Given the description of an element on the screen output the (x, y) to click on. 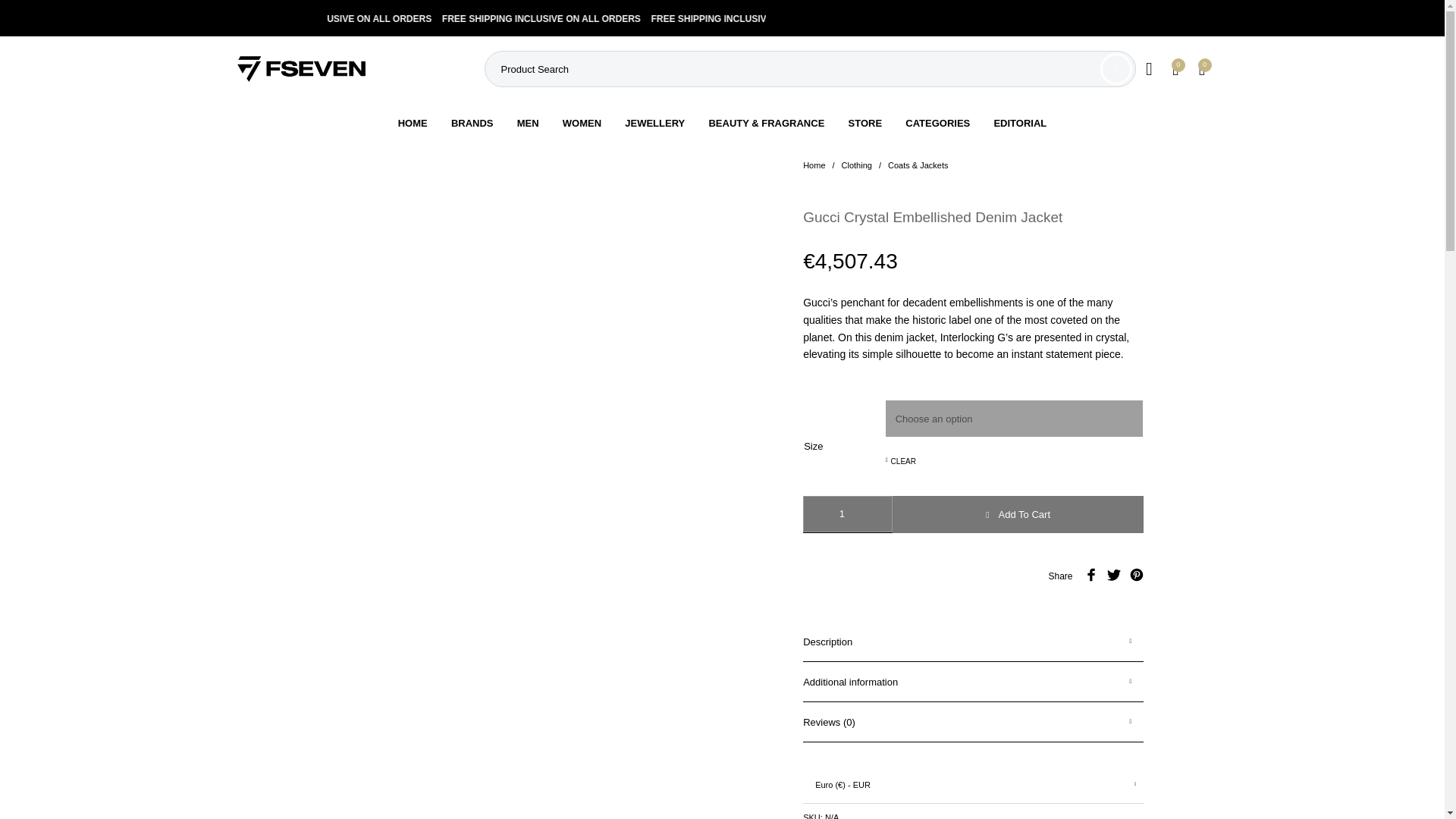
FREE SHIPPING INCLUSIVE ON ALL ORDERS (791, 17)
MEN (527, 122)
HOME (412, 122)
F7 Apparel (300, 68)
FREE SHIPPING INCLUSIVE ON ALL ORDERS (583, 17)
1 (847, 514)
FREE SHIPPING INCLUSIVE ON ALL ORDERS (376, 17)
BRANDS (472, 122)
